Given the description of an element on the screen output the (x, y) to click on. 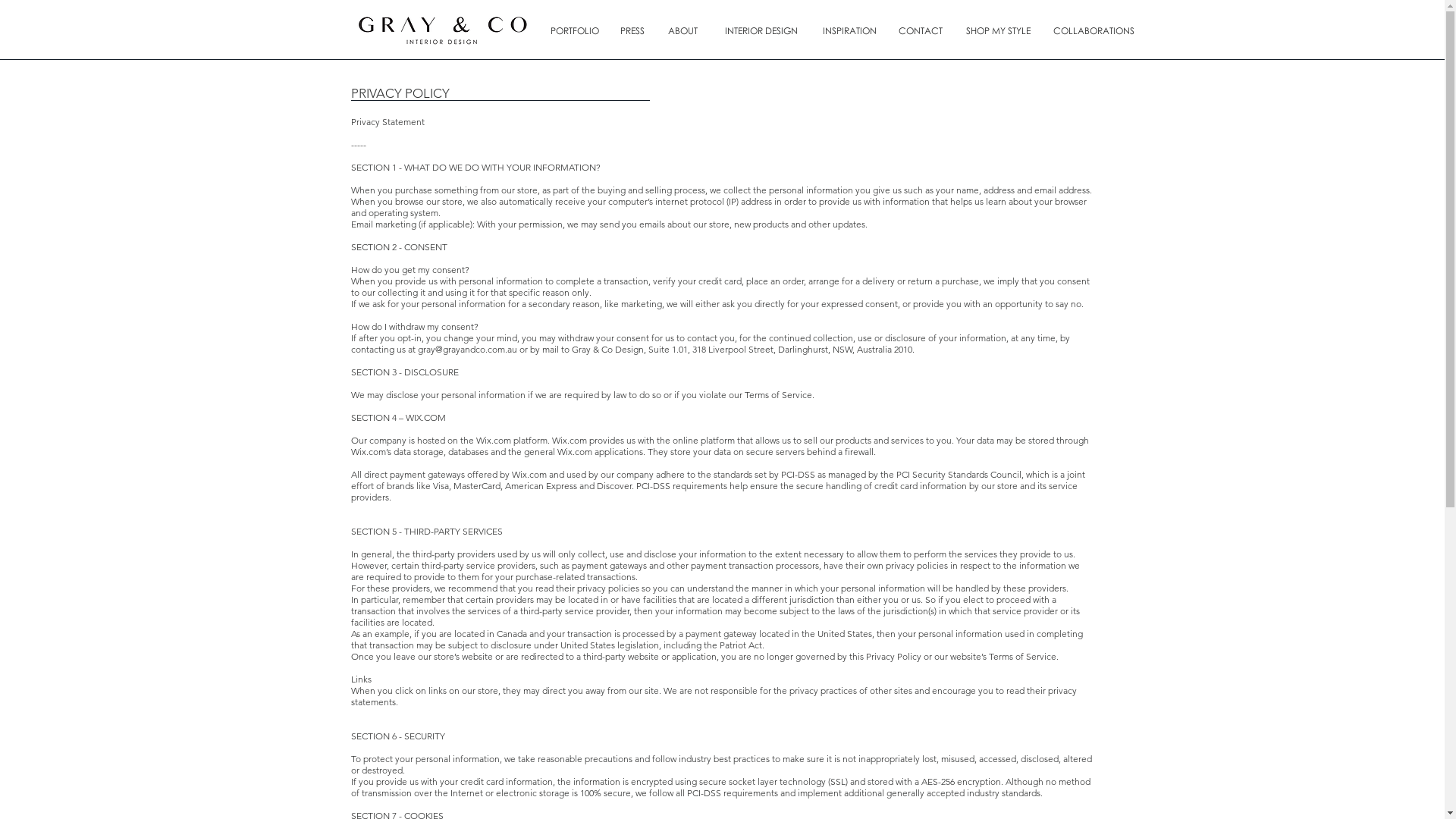
INTERIOR DESIGN Element type: text (760, 30)
PRESS Element type: text (632, 30)
INSPIRATION Element type: text (849, 30)
COLLABORATIONS Element type: text (1092, 30)
SHOP MY STYLE Element type: text (998, 30)
PORTFOLIO Element type: text (574, 30)
ABOUT Element type: text (682, 30)
CONTACT Element type: text (920, 30)
